Given the description of an element on the screen output the (x, y) to click on. 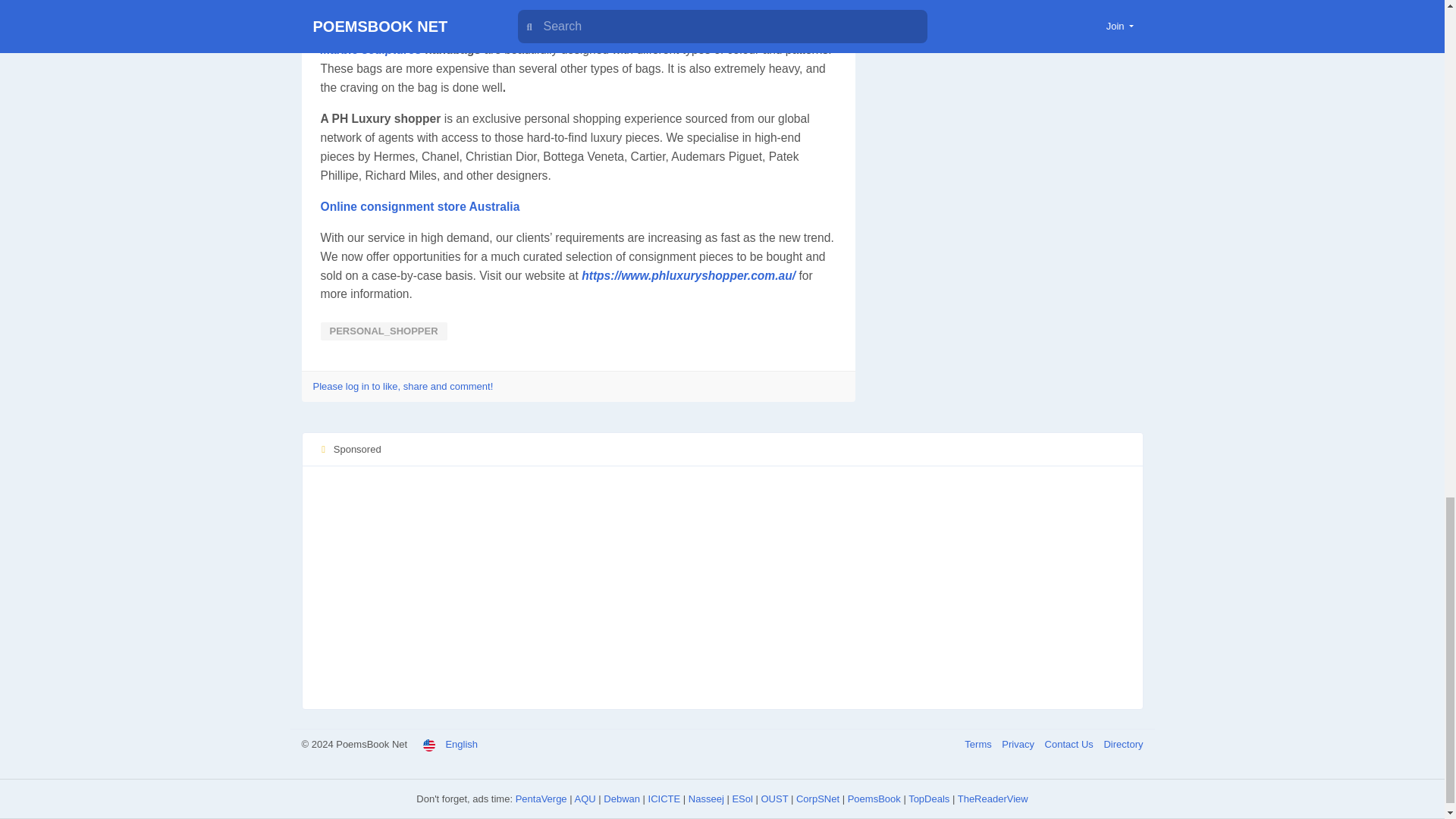
Online consignment store Australia (419, 205)
Marble sculptures (370, 49)
Please log in to like, share and comment! (403, 386)
